Given the description of an element on the screen output the (x, y) to click on. 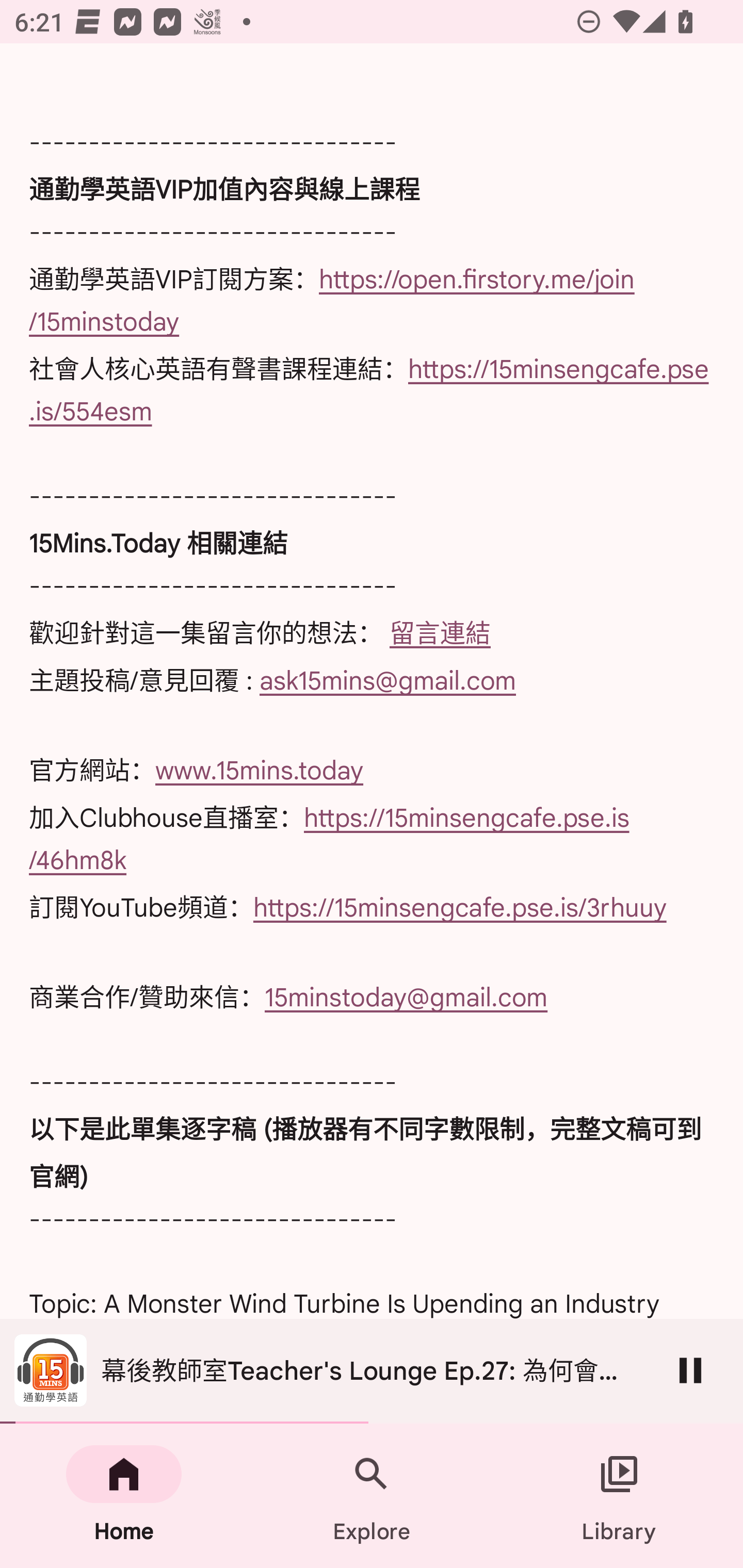
Pause (690, 1370)
Explore (371, 1495)
Library (619, 1495)
